Given the description of an element on the screen output the (x, y) to click on. 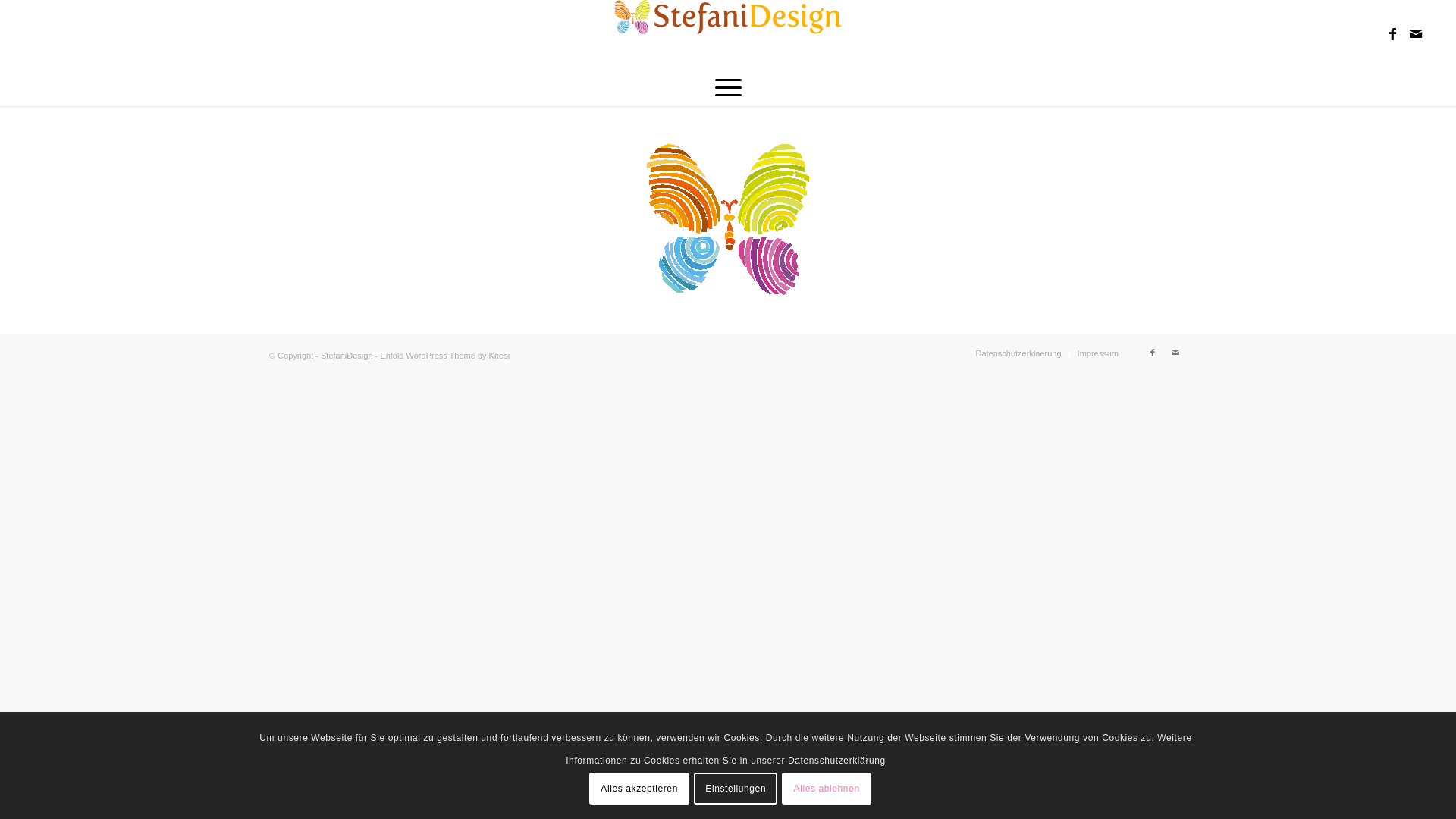
Enfold WordPress Theme by Kriesi Element type: text (444, 355)
Impressum Element type: text (1097, 352)
Facebook Element type: hover (1392, 33)
Alles akzeptieren Element type: text (639, 787)
Datenschutzerklaerung Element type: text (1017, 352)
Mail Element type: hover (1175, 352)
Mail Element type: hover (1415, 33)
Facebook Element type: hover (1152, 352)
Alles ablehnen Element type: text (826, 787)
StefaniDesign Element type: text (346, 355)
Einstellungen Element type: text (735, 787)
Favicon Element type: hover (727, 219)
